Given the description of an element on the screen output the (x, y) to click on. 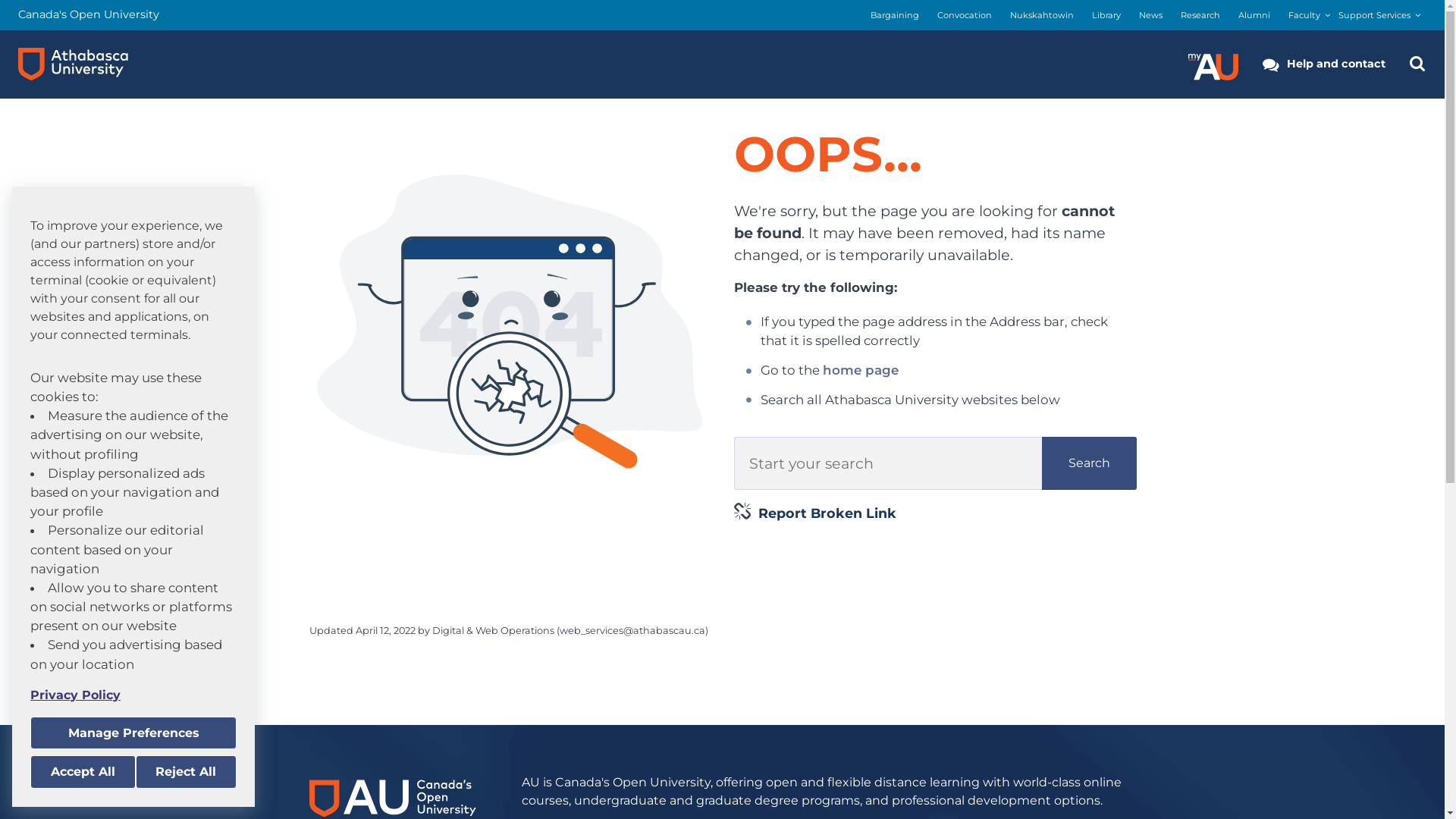
Research Element type: text (1200, 15)
Privacy Policy Element type: text (133, 695)
Faculty Element type: text (1304, 15)
Nukskahtowin Element type: text (1041, 15)
Convocation Element type: text (964, 15)
Reject All Element type: text (185, 771)
Alumni Element type: text (1254, 15)
Accept All Element type: text (82, 771)
Library Element type: text (1106, 15)
Search the Athabasca University Website Element type: hover (1417, 64)
Manage Preferences Element type: text (133, 732)
home page Element type: text (860, 369)
Help and contact Element type: text (1323, 64)
Search Element type: text (1088, 462)
Support Services Element type: text (1374, 15)
News Element type: text (1150, 15)
Skip to main content Element type: text (0, 0)
Bargaining Element type: text (894, 15)
Athabasca University logo Element type: text (73, 64)
